Given the description of an element on the screen output the (x, y) to click on. 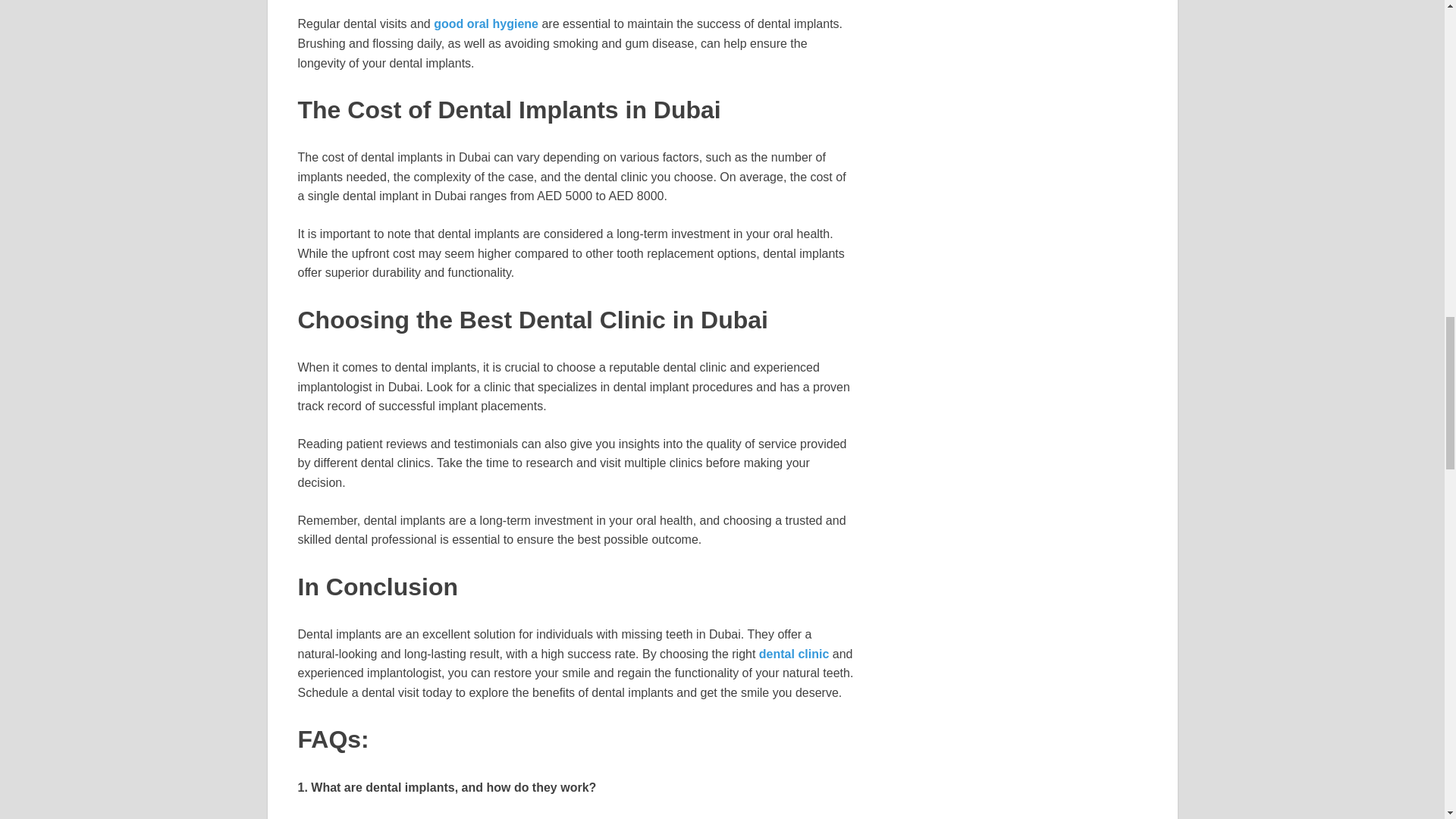
good oral hygiene (485, 23)
dental clinic (793, 653)
